Given the description of an element on the screen output the (x, y) to click on. 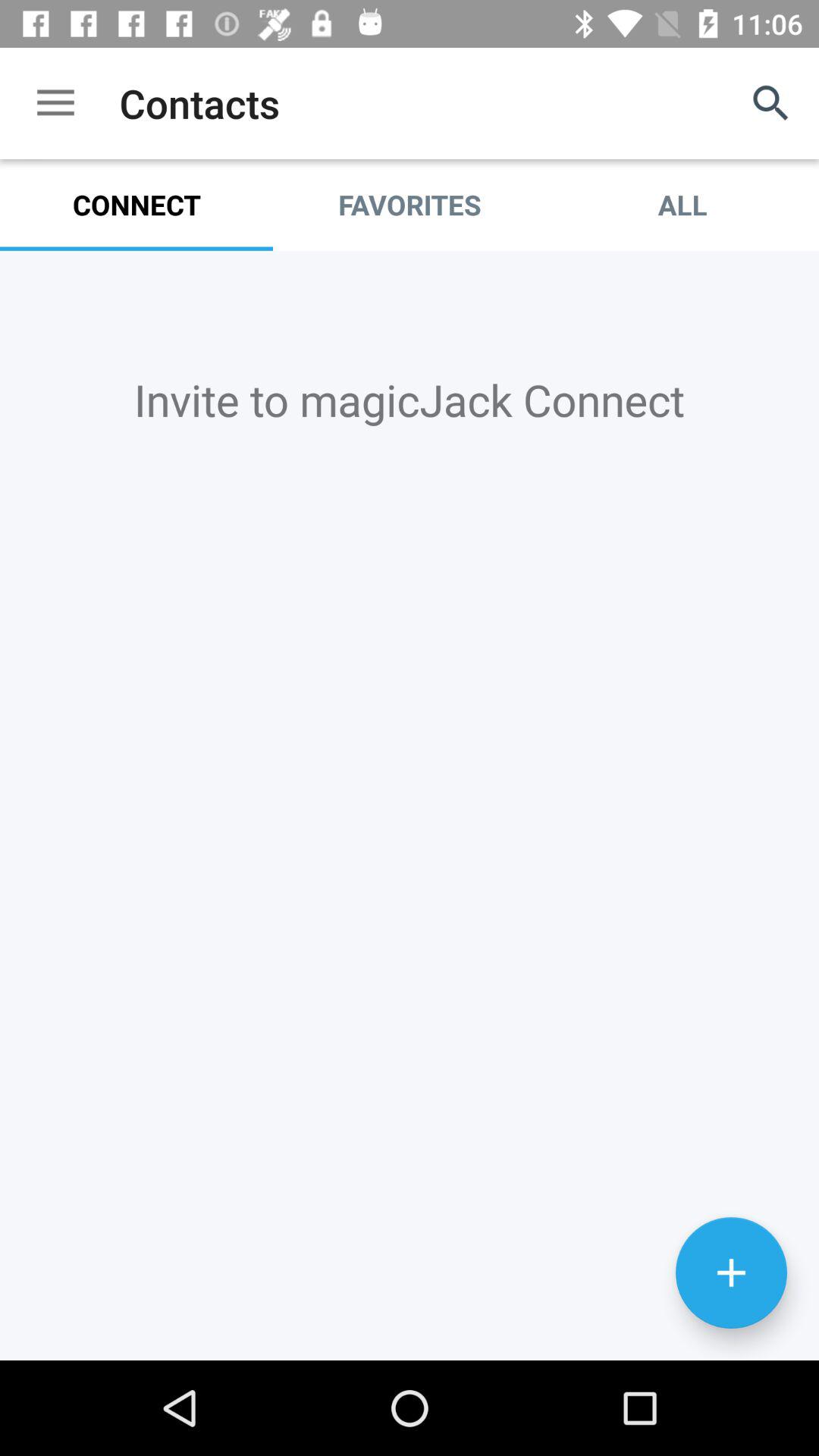
turn off the icon above connect icon (55, 103)
